Given the description of an element on the screen output the (x, y) to click on. 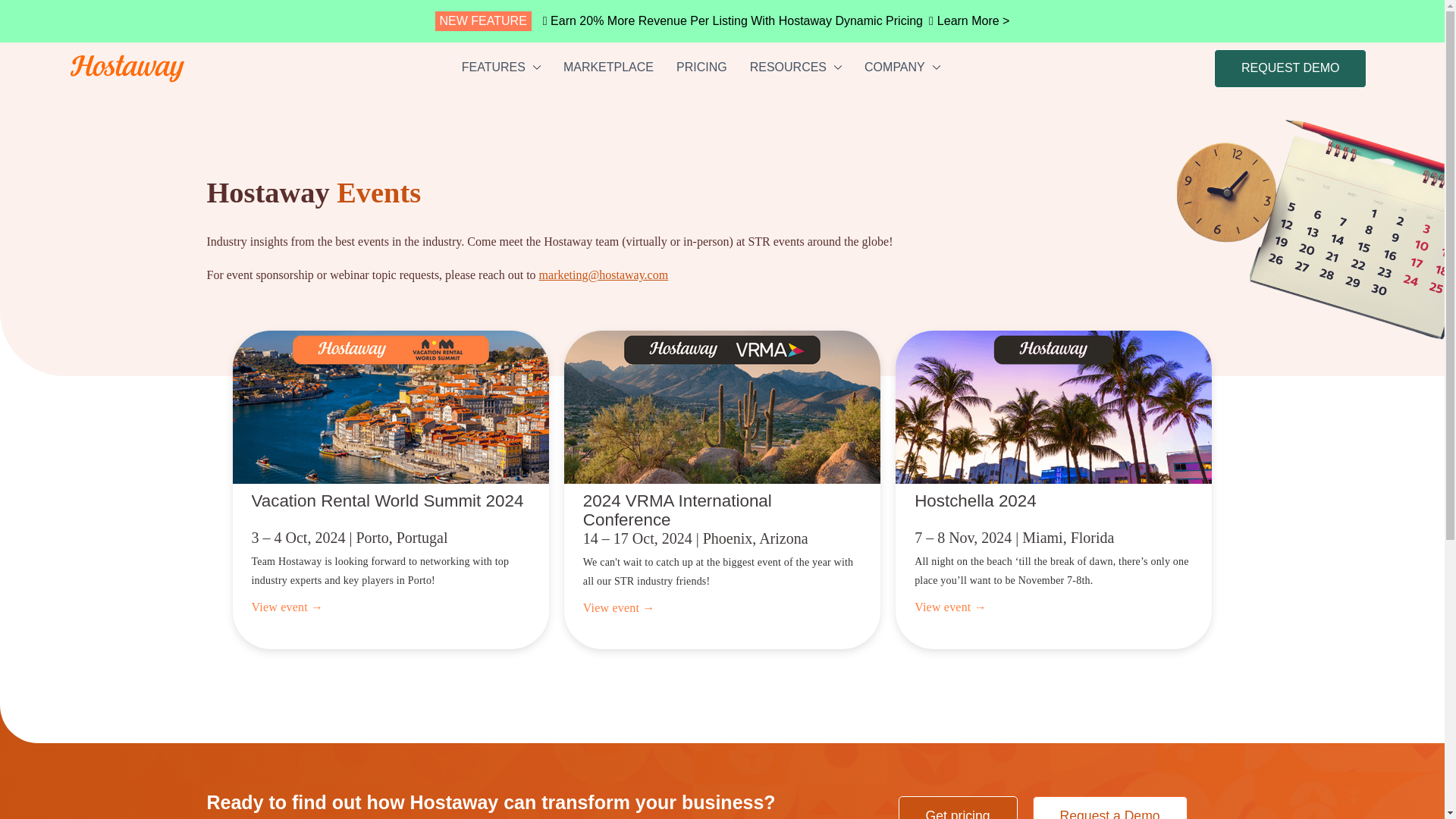
PRICING (701, 66)
Get pricing (957, 807)
MARKETPLACE (608, 66)
Request a Demo (1110, 807)
FEATURES (500, 66)
REQUEST DEMO (1290, 67)
